Given the description of an element on the screen output the (x, y) to click on. 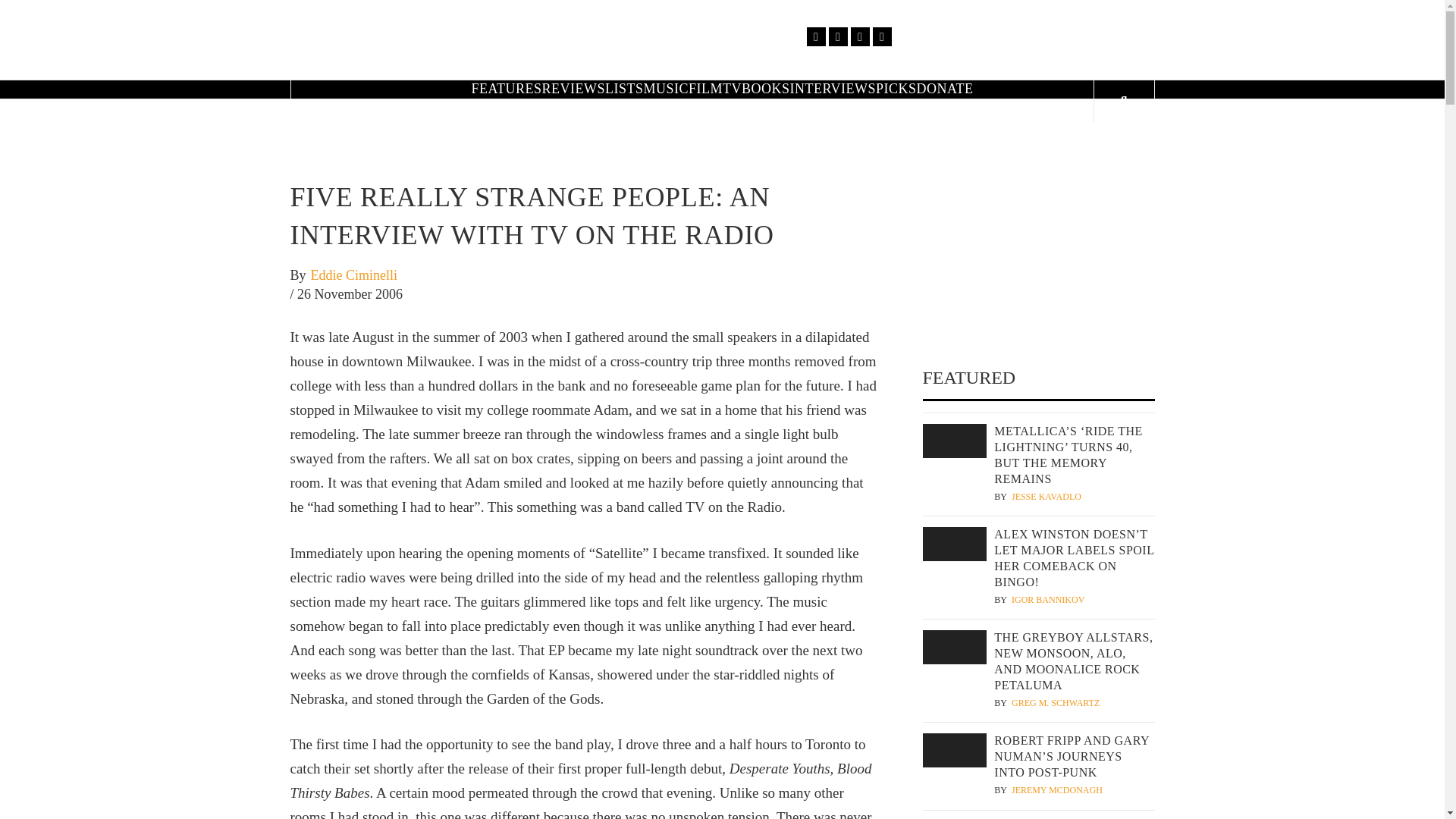
TV (731, 88)
MUSIC (665, 88)
Facebook (815, 36)
REVIEWS (573, 88)
FILM (705, 88)
Greg M. Schwartz (1055, 703)
Jeremy McDonagh (1056, 789)
Eddie Ciminelli (354, 275)
FEATURES (505, 88)
Twitter (837, 36)
